Given the description of an element on the screen output the (x, y) to click on. 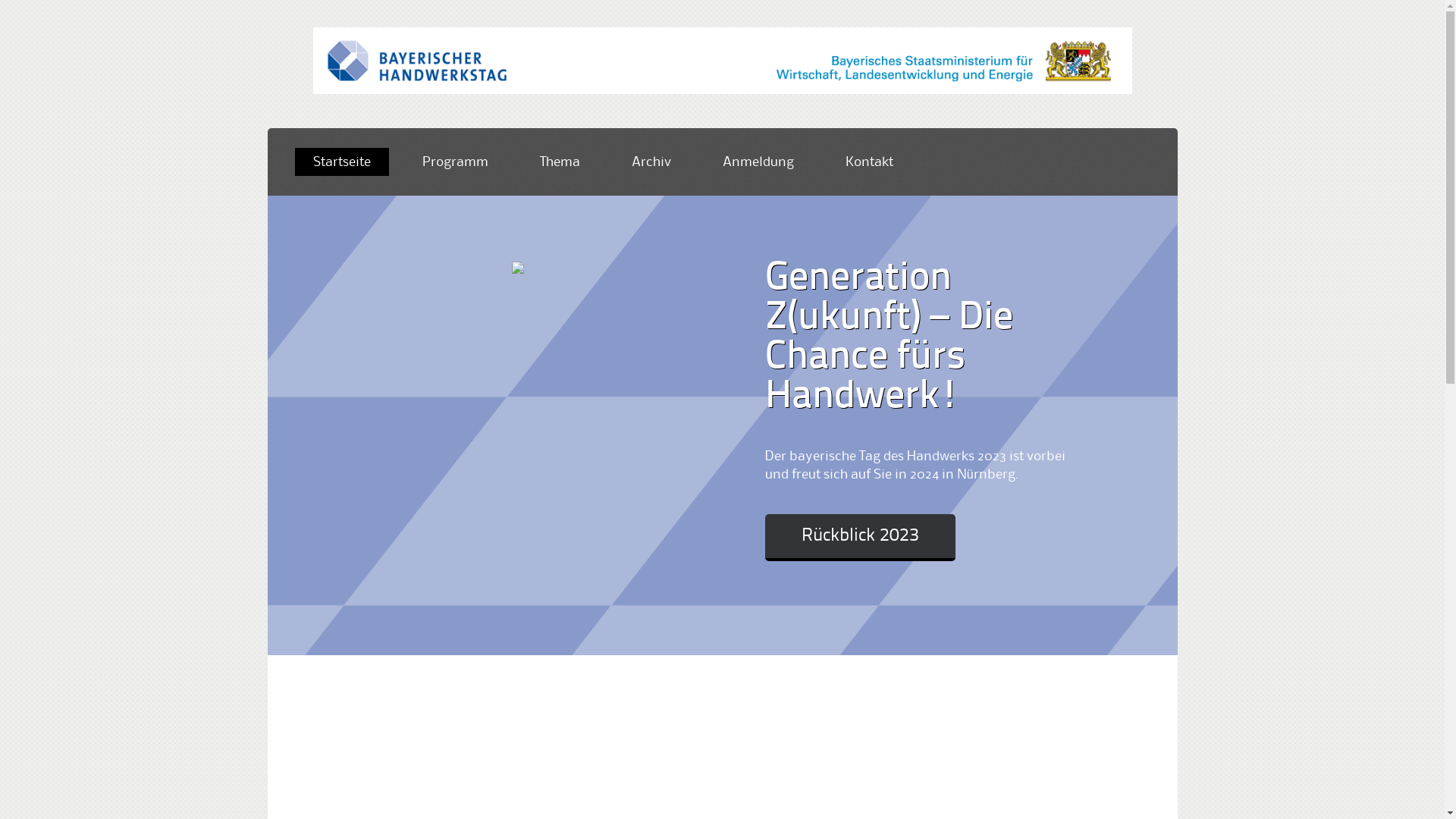
Programm Element type: text (454, 161)
Anmeldung Element type: text (757, 161)
Thema Element type: text (559, 161)
Archiv Element type: text (650, 161)
Startseite Element type: text (341, 161)
Skip to content Element type: text (294, 172)
Kontakt Element type: text (868, 161)
